Given the description of an element on the screen output the (x, y) to click on. 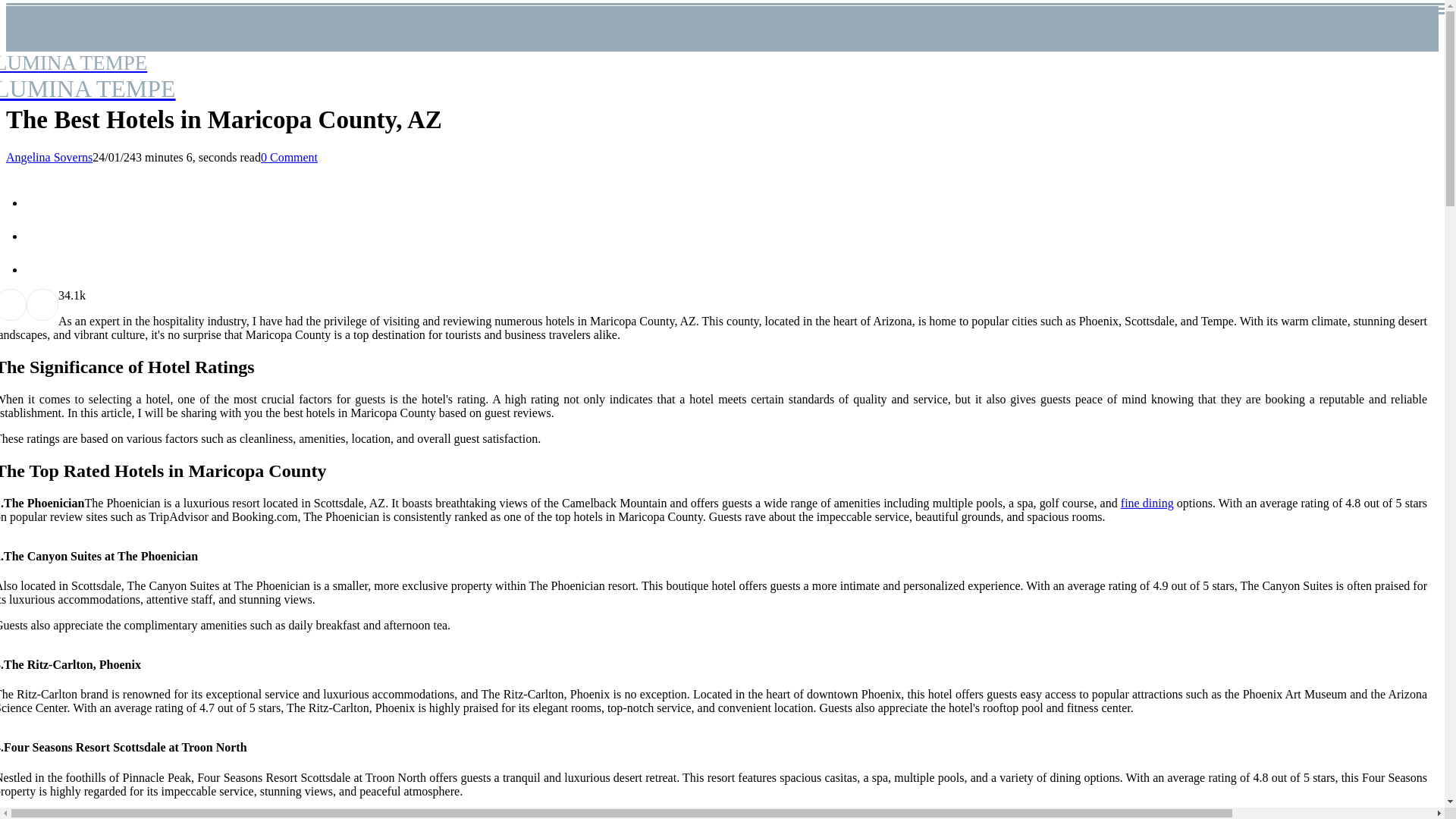
Angelina Soverns (49, 156)
Posts by Angelina Soverns (88, 77)
0 Comment (49, 156)
fine dining (288, 156)
